Given the description of an element on the screen output the (x, y) to click on. 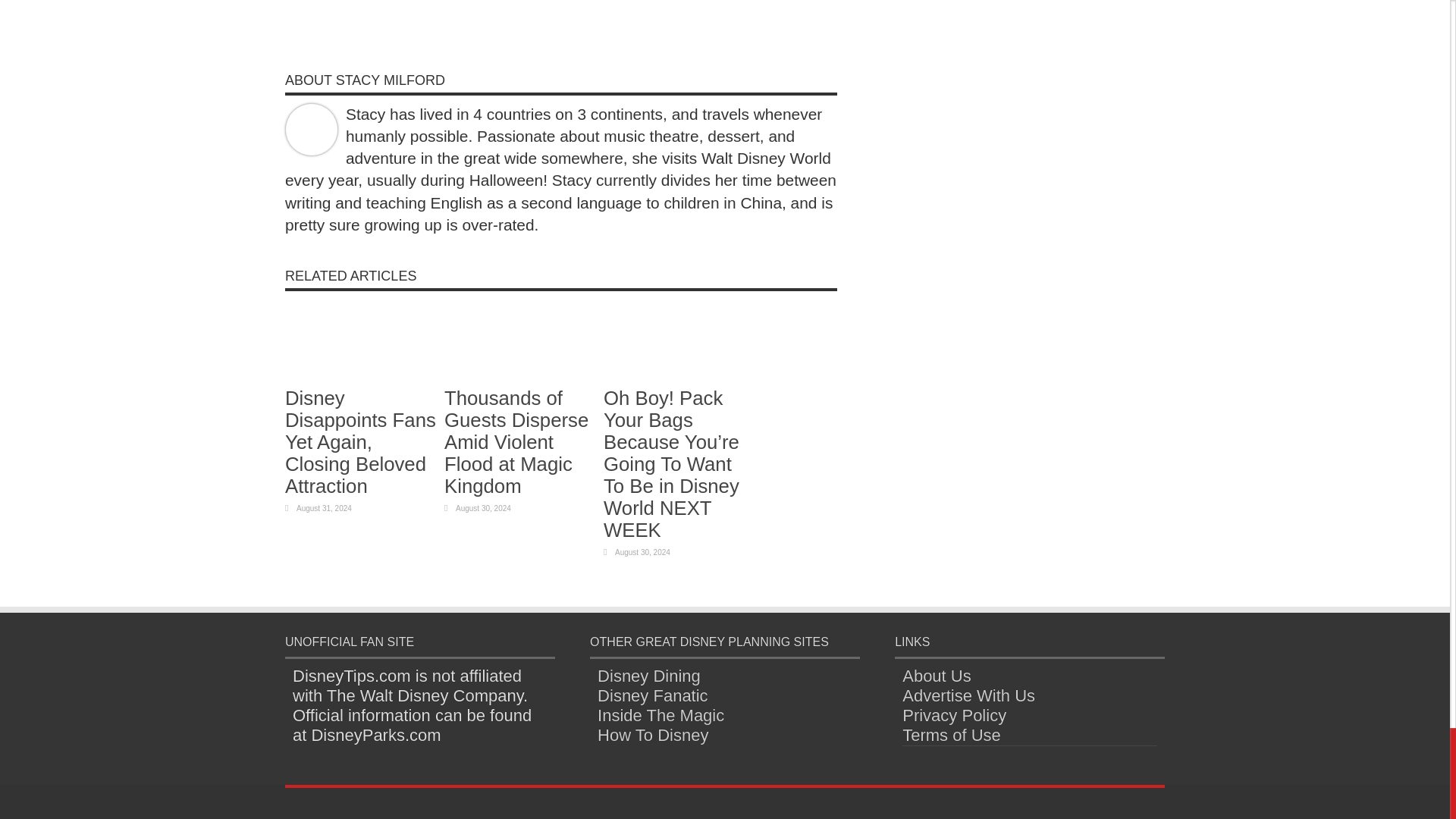
Disney Dining (648, 675)
About Us (936, 675)
How To Disney (651, 734)
Disney Fanatic (651, 695)
Inside The Magic (659, 714)
